Given the description of an element on the screen output the (x, y) to click on. 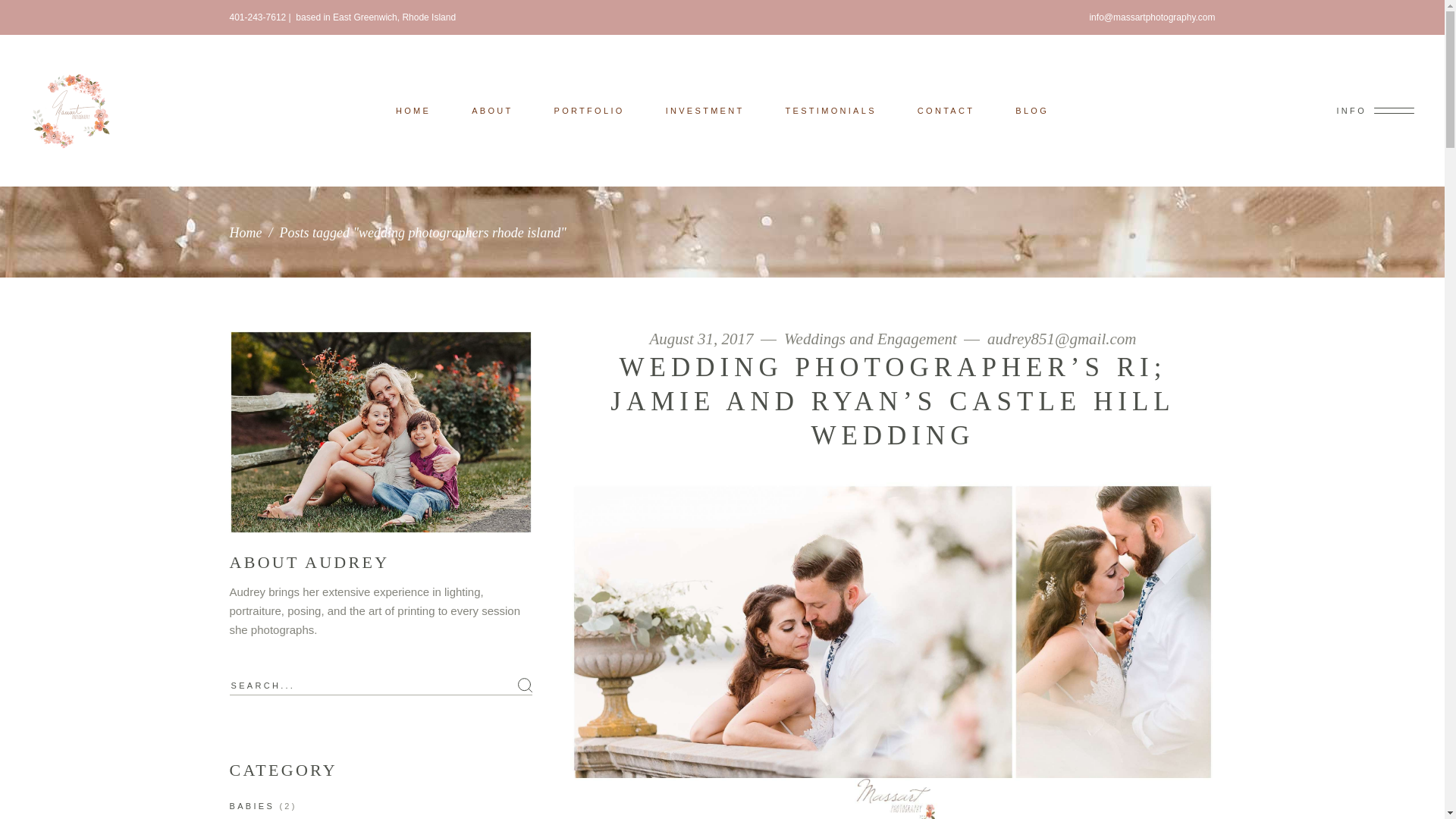
ABOUT (491, 109)
401-243-7612 (256, 17)
TESTIMONIALS (830, 109)
INVESTMENT (705, 109)
INFO (1374, 110)
HOME (413, 109)
BLOG (1031, 109)
PORTFOLIO (589, 109)
CONTACT (945, 109)
Search for: (380, 685)
